Given the description of an element on the screen output the (x, y) to click on. 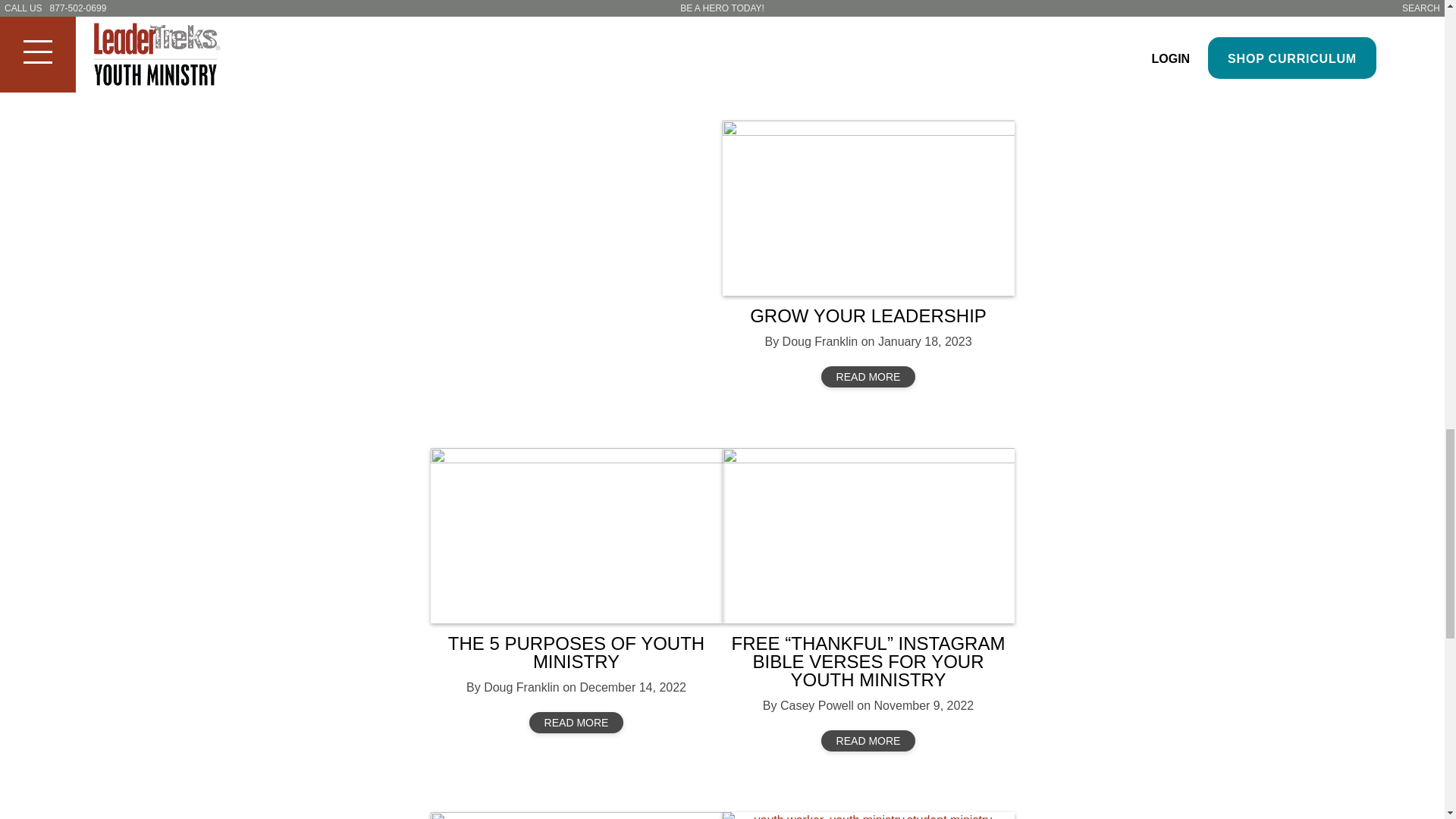
GROW YOUR LEADERSHIP (868, 315)
THE 5 PURPOSES OF YOUTH MINISTRY (576, 652)
The 5 Purposes of Youth Ministry (576, 535)
The Money Problem (867, 815)
READ MORE (879, 48)
READ MORE (565, 66)
GROW YOUR LEADERSHIP (867, 207)
READ MORE (868, 376)
READ MORE (576, 722)
What is Spiritual Maturity? (576, 815)
FREE SUMMER BIBLE VERSE PACK (564, 8)
READ MORE (868, 740)
